Given the description of an element on the screen output the (x, y) to click on. 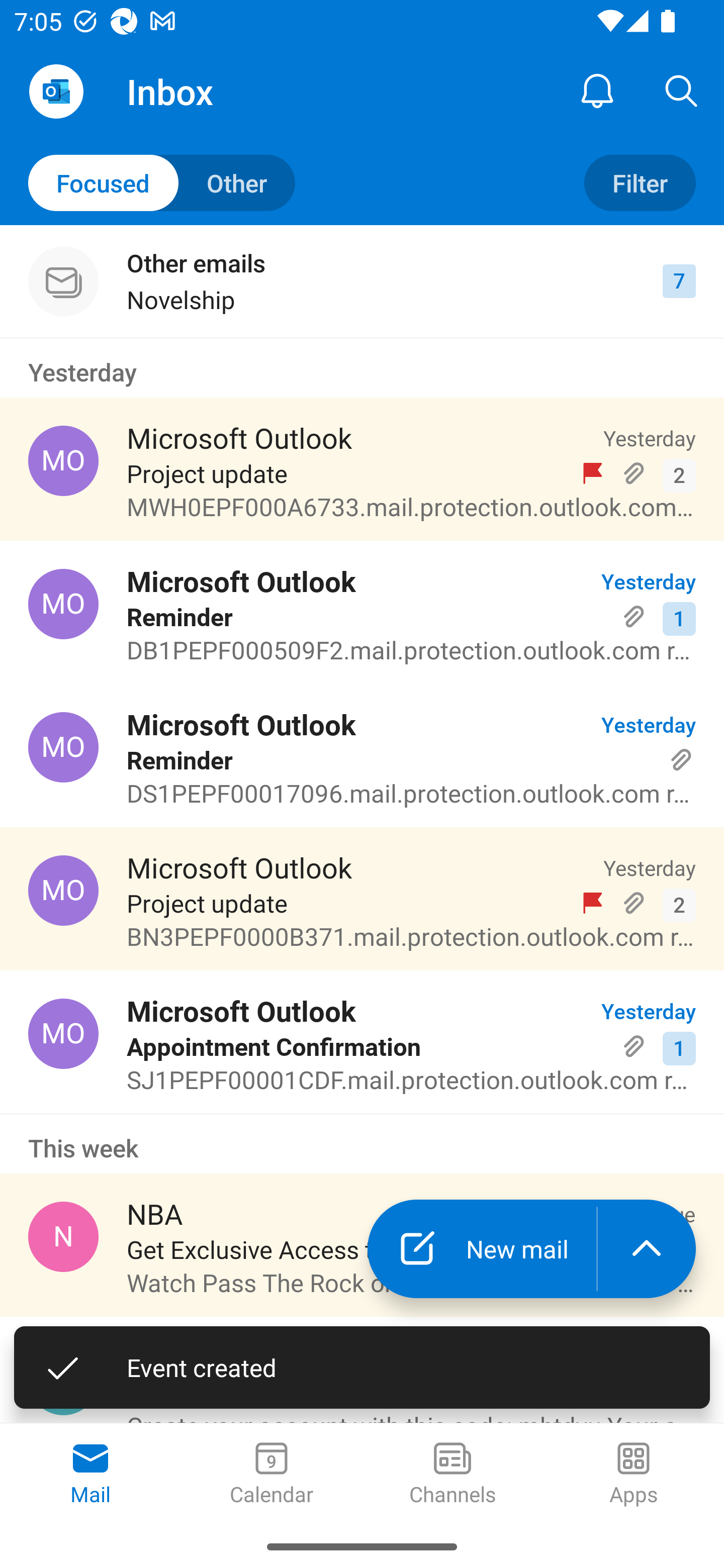
Notification Center (597, 90)
Search, ,  (681, 90)
Open Navigation Drawer (55, 91)
Toggle to other mails (161, 183)
Filter (639, 183)
Other emails Novelship 7 (362, 281)
New mail (481, 1248)
launch the extended action menu (646, 1248)
NBA, NBA@email.nba.com (63, 1236)
TicketSwap, info@ticketswap.com (63, 1380)
Calendar (271, 1474)
Channels (452, 1474)
Apps (633, 1474)
